Given the description of an element on the screen output the (x, y) to click on. 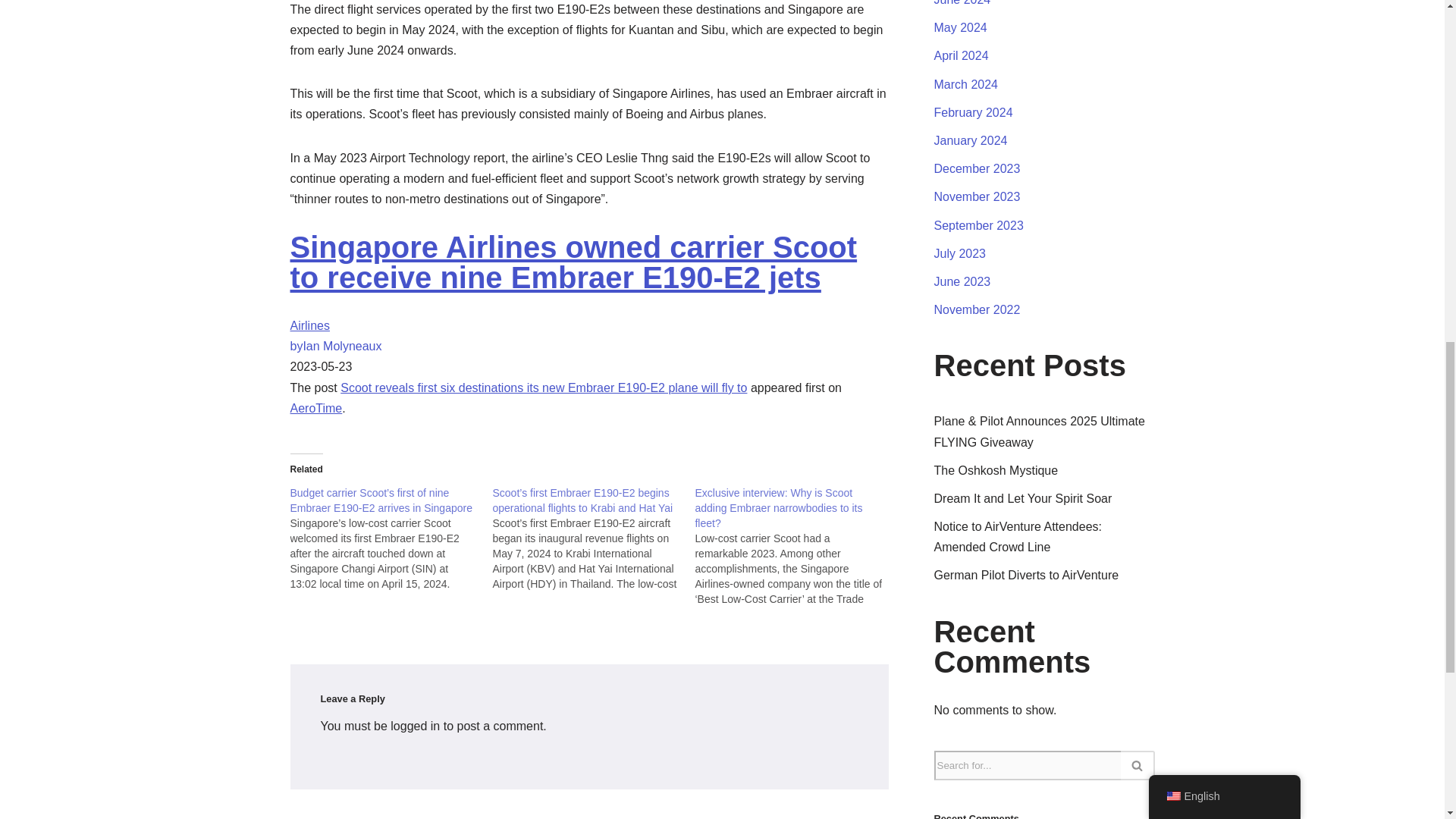
Airlines (309, 325)
View all posts by Ian Molyneaux (335, 345)
byIan Molyneaux (335, 345)
